Given the description of an element on the screen output the (x, y) to click on. 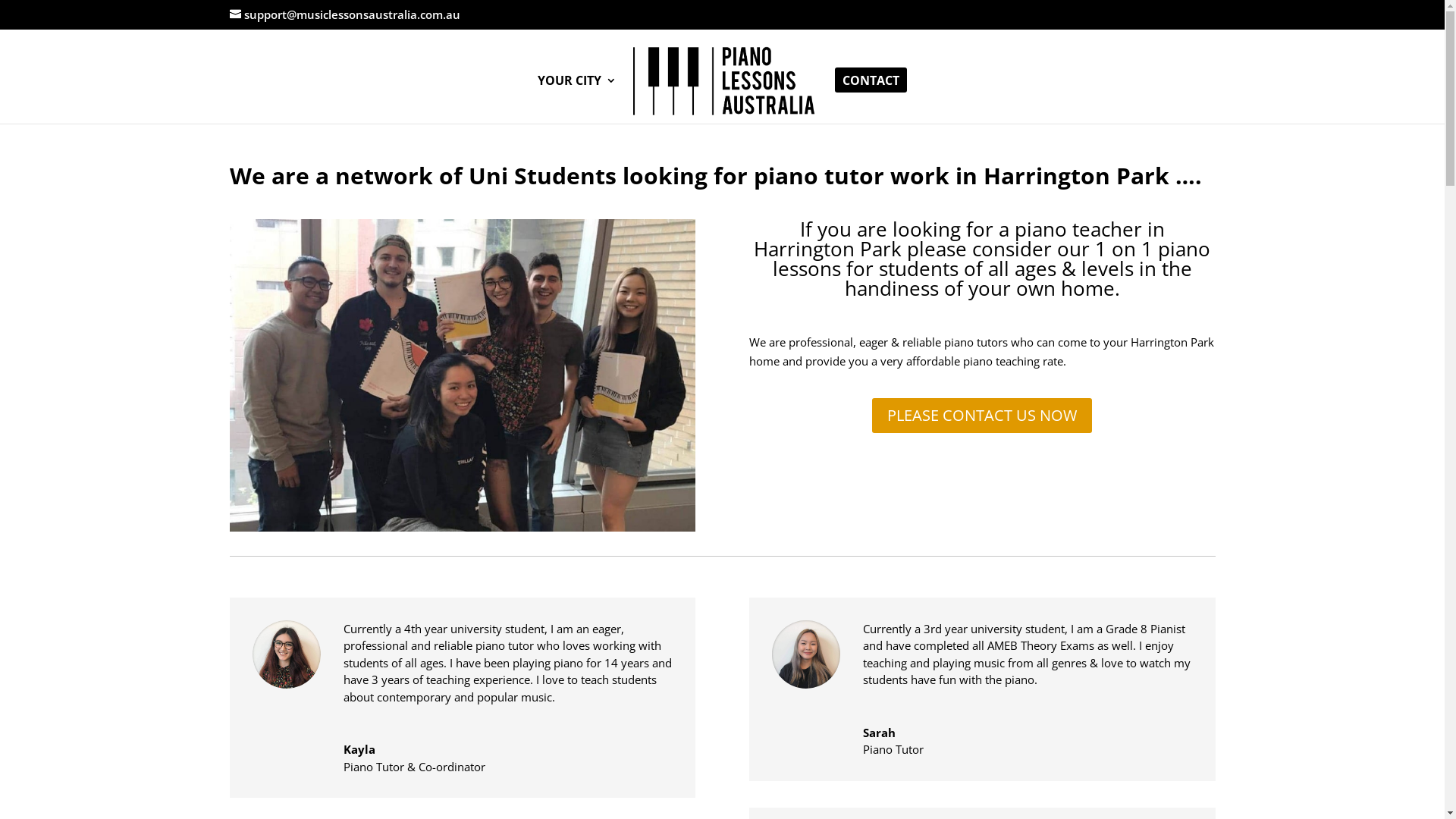
Sarah Element type: text (878, 732)
Best Harrington Park Piano Teacher Element type: hover (461, 375)
PLEASE CONTACT US NOW Element type: text (982, 415)
Kayla Element type: text (358, 748)
support@musiclessonsaustralia.com.au Element type: text (344, 13)
CONTACT Element type: text (870, 98)
YOUR CITY Element type: text (576, 98)
